Given the description of an element on the screen output the (x, y) to click on. 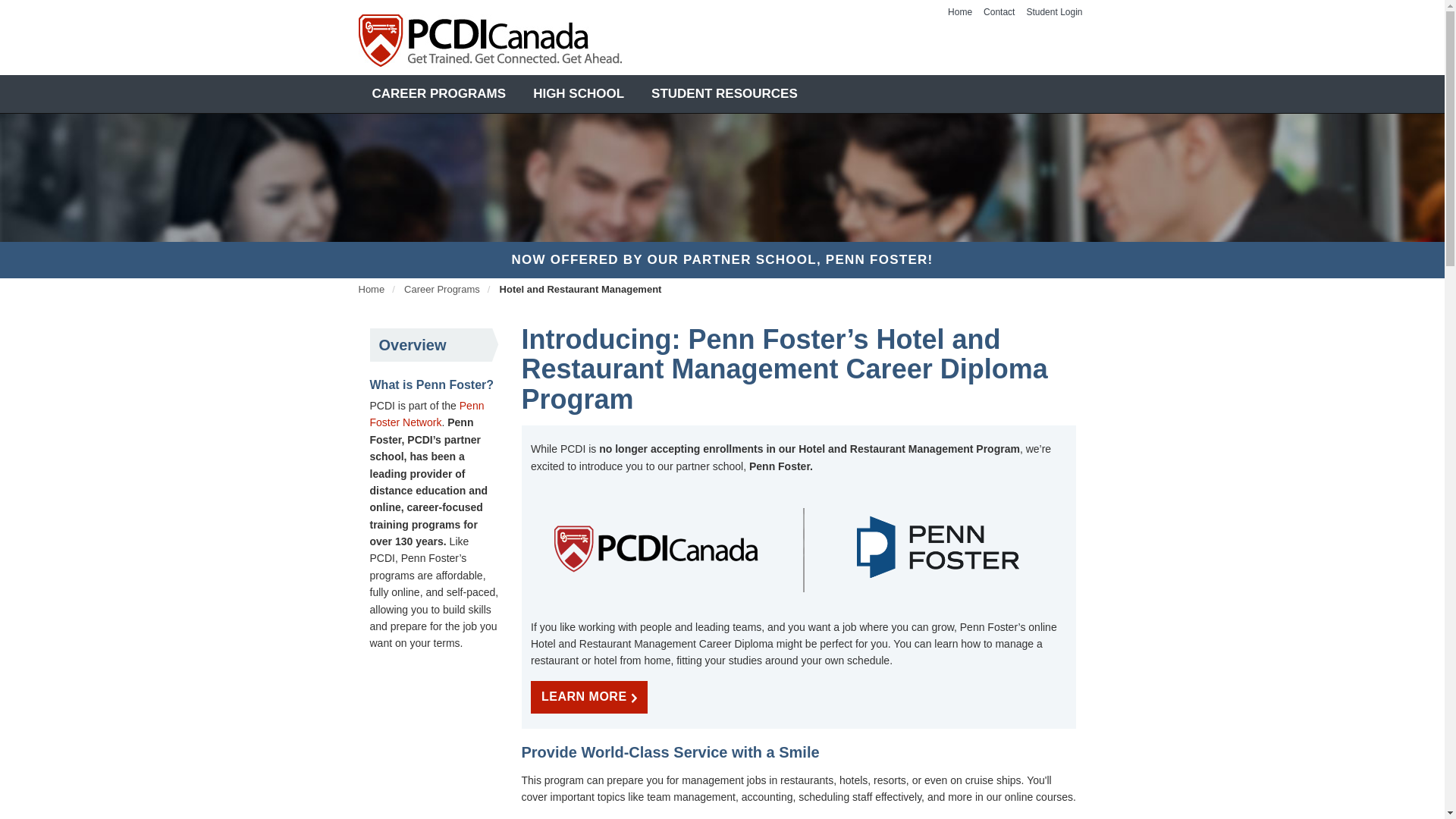
Home (959, 11)
HIGH SCHOOL (578, 94)
CAREER PROGRAMS (438, 94)
Student Login (1054, 11)
PCDI Canada (489, 40)
Home (959, 11)
Contact (998, 11)
Career Programs (438, 94)
STUDENT RESOURCES (723, 94)
LEARN MORE   (589, 696)
Student Login (1054, 11)
Contact (998, 11)
Home (371, 288)
Career Programs (442, 288)
